Given the description of an element on the screen output the (x, y) to click on. 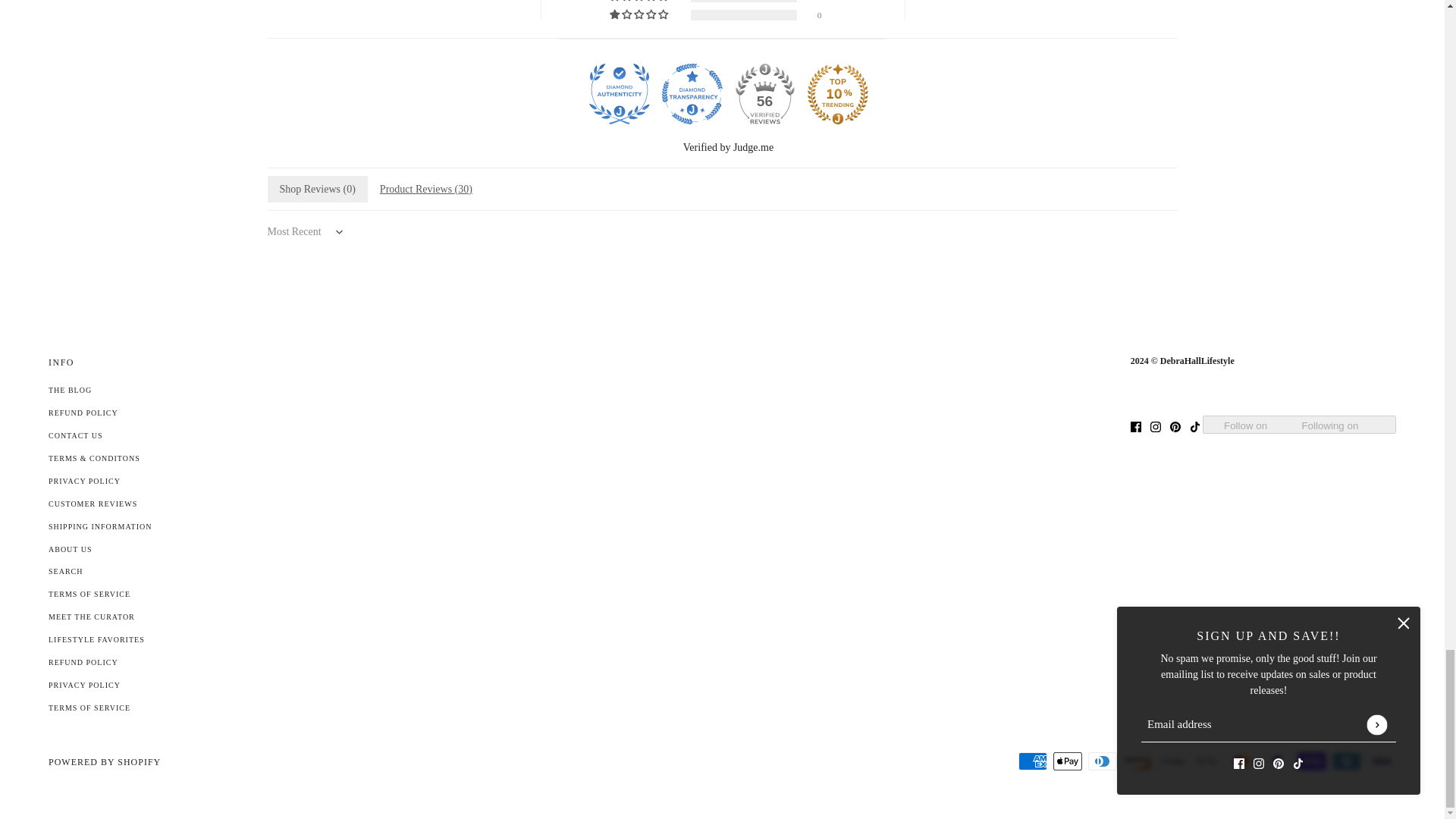
Refund policy (82, 412)
About Us (70, 549)
Meet The Curator (91, 616)
Privacy Policy (84, 480)
Terms of Service (89, 593)
Shipping Information (99, 526)
Lifestyle Favorites (96, 639)
Terms of service (89, 707)
Contact Us (75, 435)
Privacy policy (84, 684)
The Blog (69, 389)
Refund policy (82, 662)
Customer Reviews (92, 503)
